Given the description of an element on the screen output the (x, y) to click on. 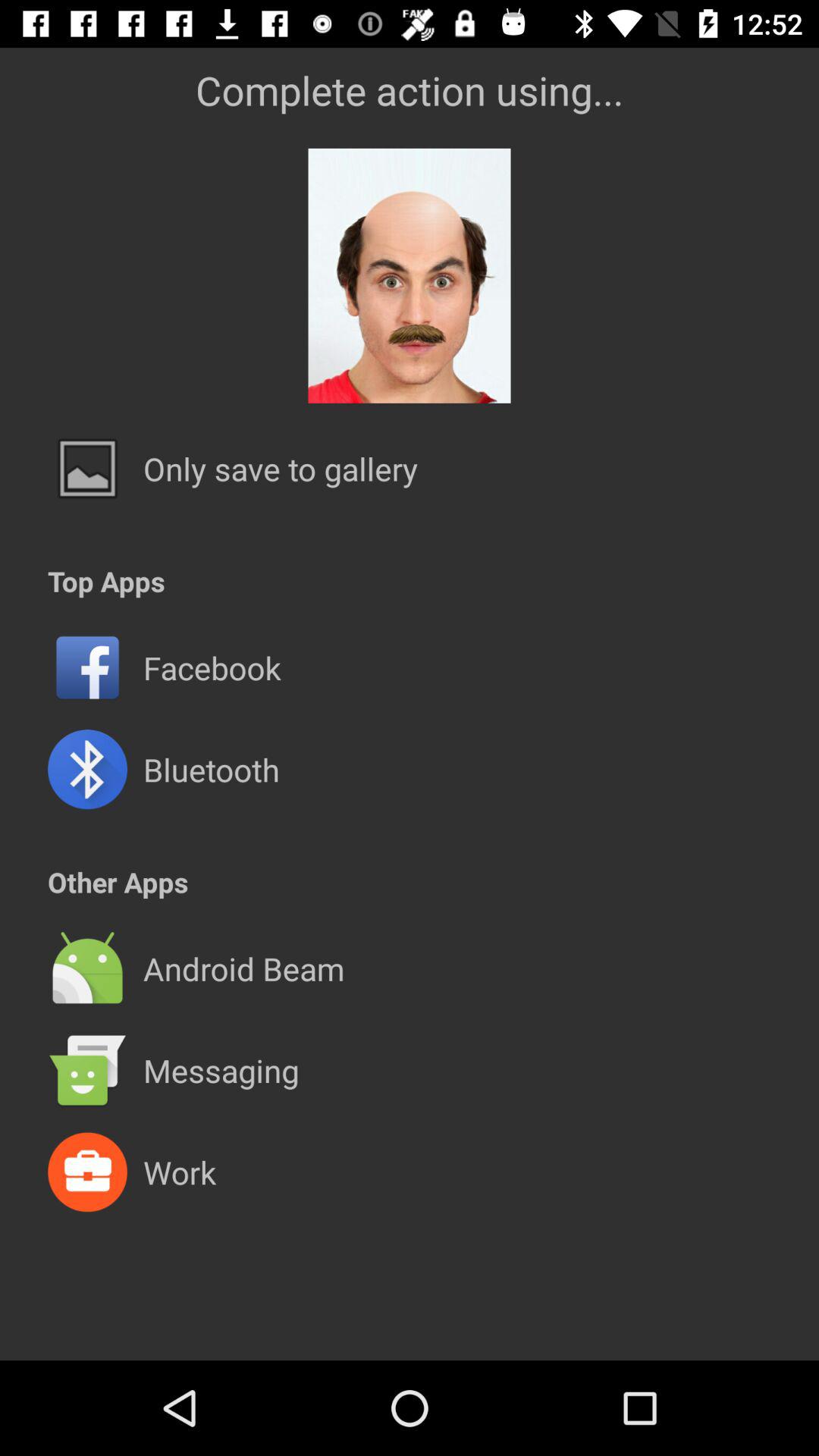
flip to work (179, 1171)
